Given the description of an element on the screen output the (x, y) to click on. 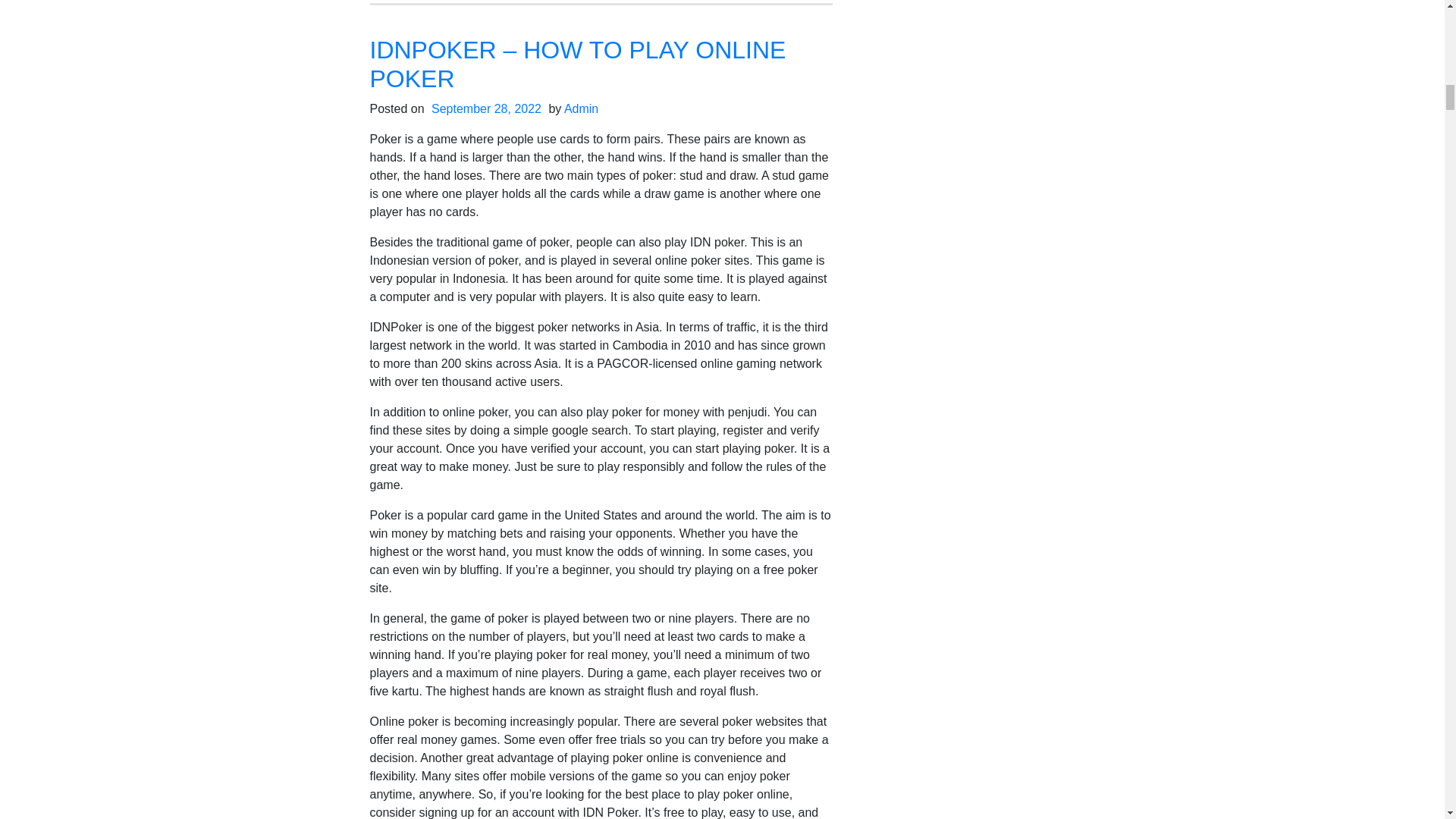
Admin (581, 108)
September 28, 2022 (486, 108)
